Given the description of an element on the screen output the (x, y) to click on. 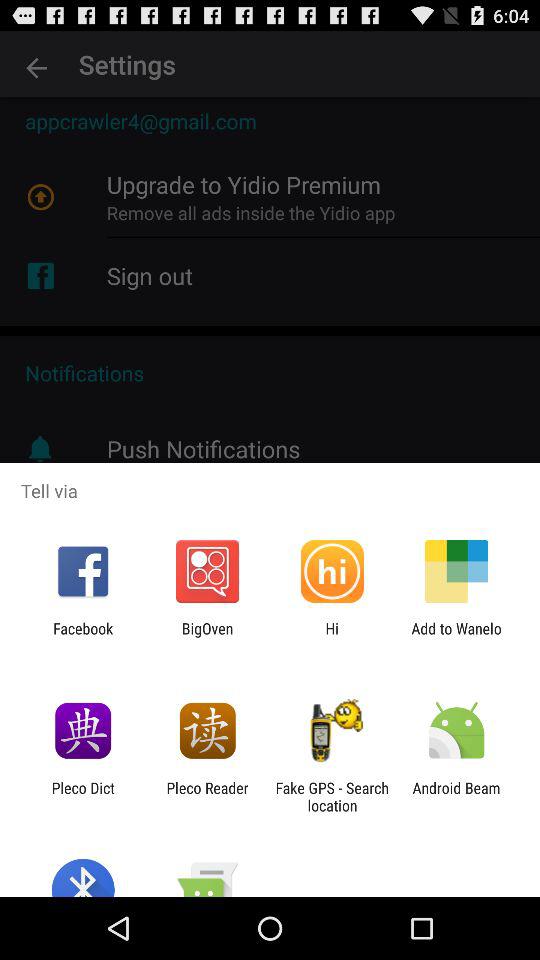
jump until facebook (83, 637)
